Given the description of an element on the screen output the (x, y) to click on. 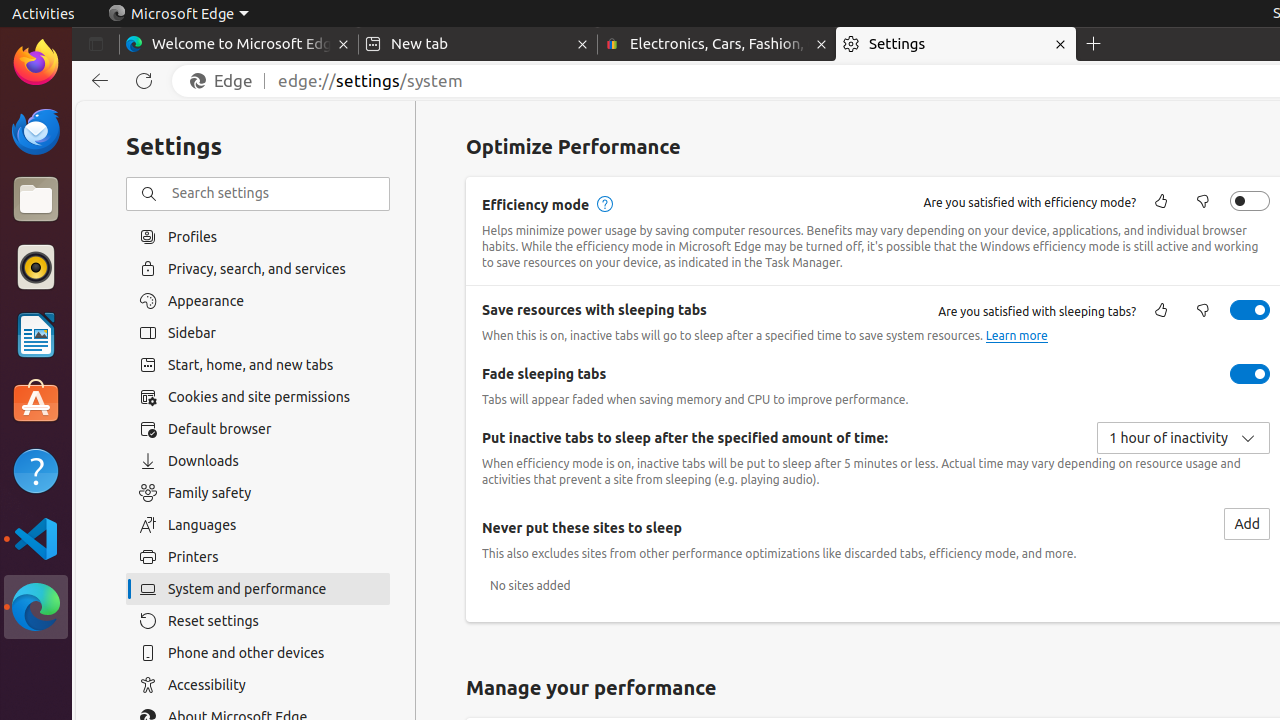
Refresh Element type: push-button (144, 81)
Settings Element type: page-tab (956, 44)
Phone and other devices Element type: tree-item (258, 653)
Efficiency mode, learn more Element type: push-button (603, 204)
Rhythmbox Element type: push-button (36, 267)
